Given the description of an element on the screen output the (x, y) to click on. 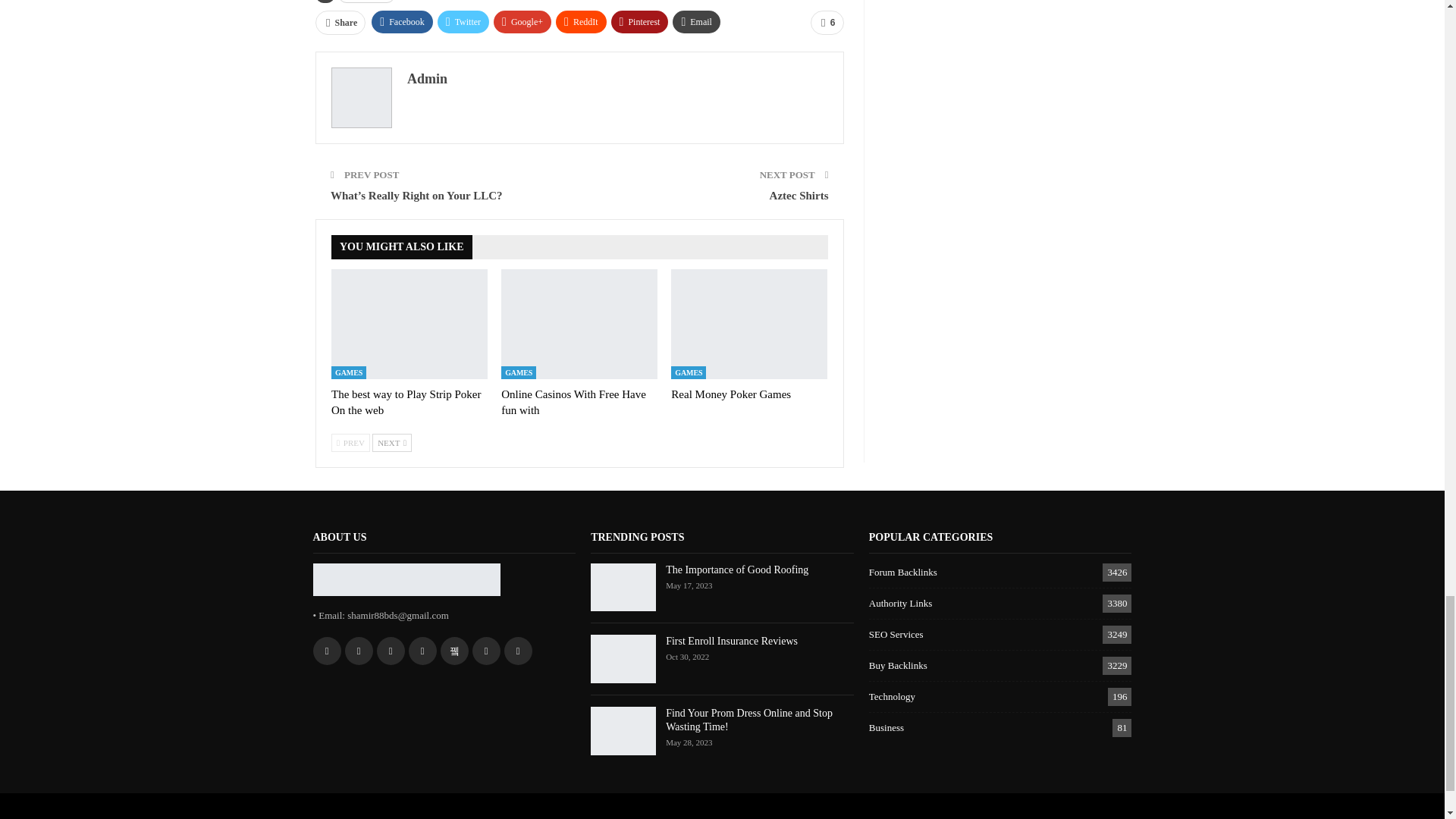
Real Money Poker Games (730, 394)
Previous (350, 443)
Next (392, 443)
Real Money Poker Games (749, 323)
Online Casinos With Free Have fun with (579, 323)
The best way to Play Strip Poker On the web (409, 323)
Online Casinos With Free Have fun with (573, 402)
The best way to Play Strip Poker On the web (405, 402)
